Given the description of an element on the screen output the (x, y) to click on. 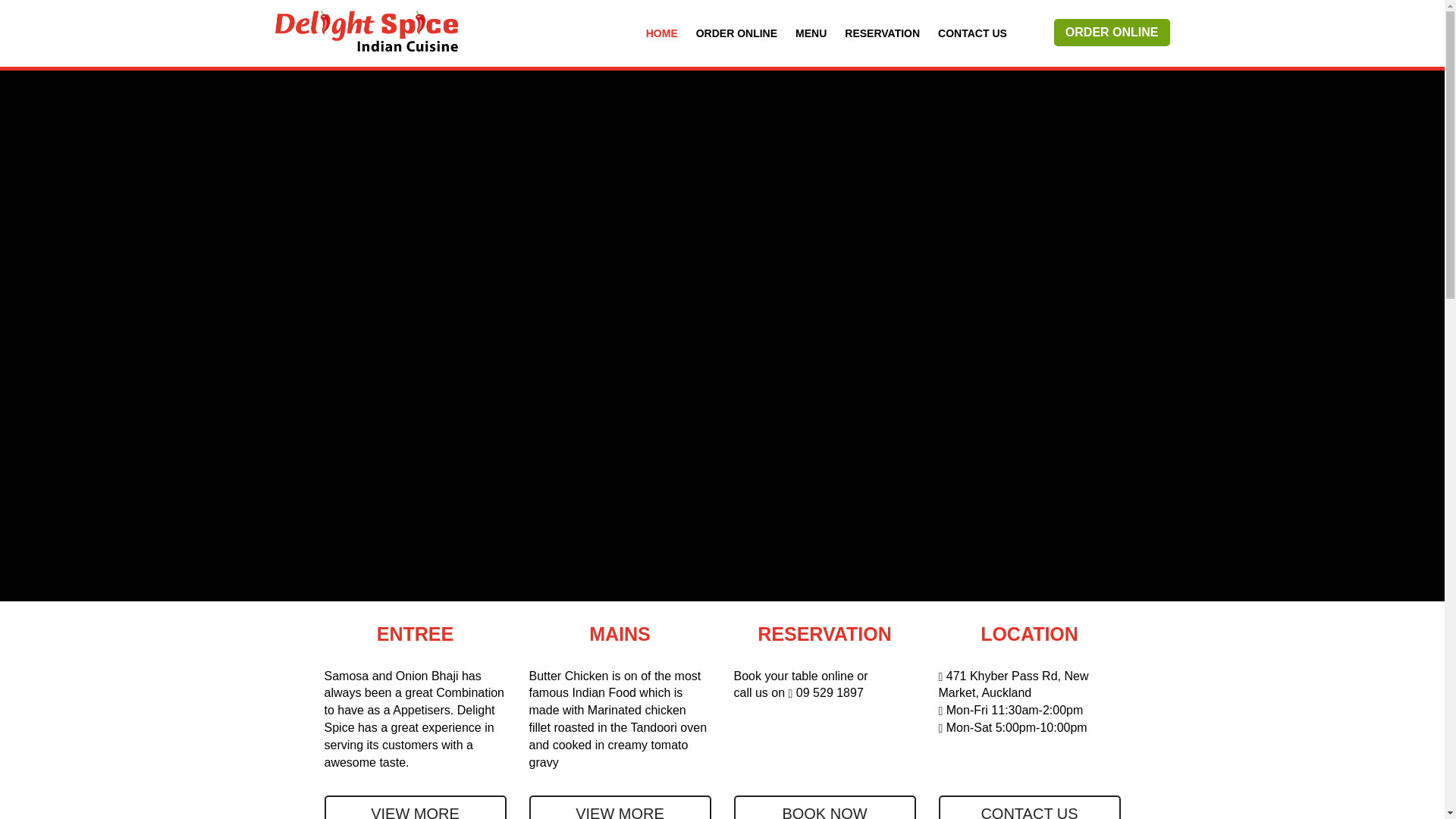
ORDER ONLINE (1112, 31)
LOCATION (1030, 638)
RESERVATION (824, 638)
ORDER ONLINE (736, 33)
VIEW MORE (620, 806)
CONTACT US (1030, 806)
ENTREE (415, 638)
BOOK NOW (824, 806)
CONTACT US (972, 33)
RESERVATION (882, 33)
